Given the description of an element on the screen output the (x, y) to click on. 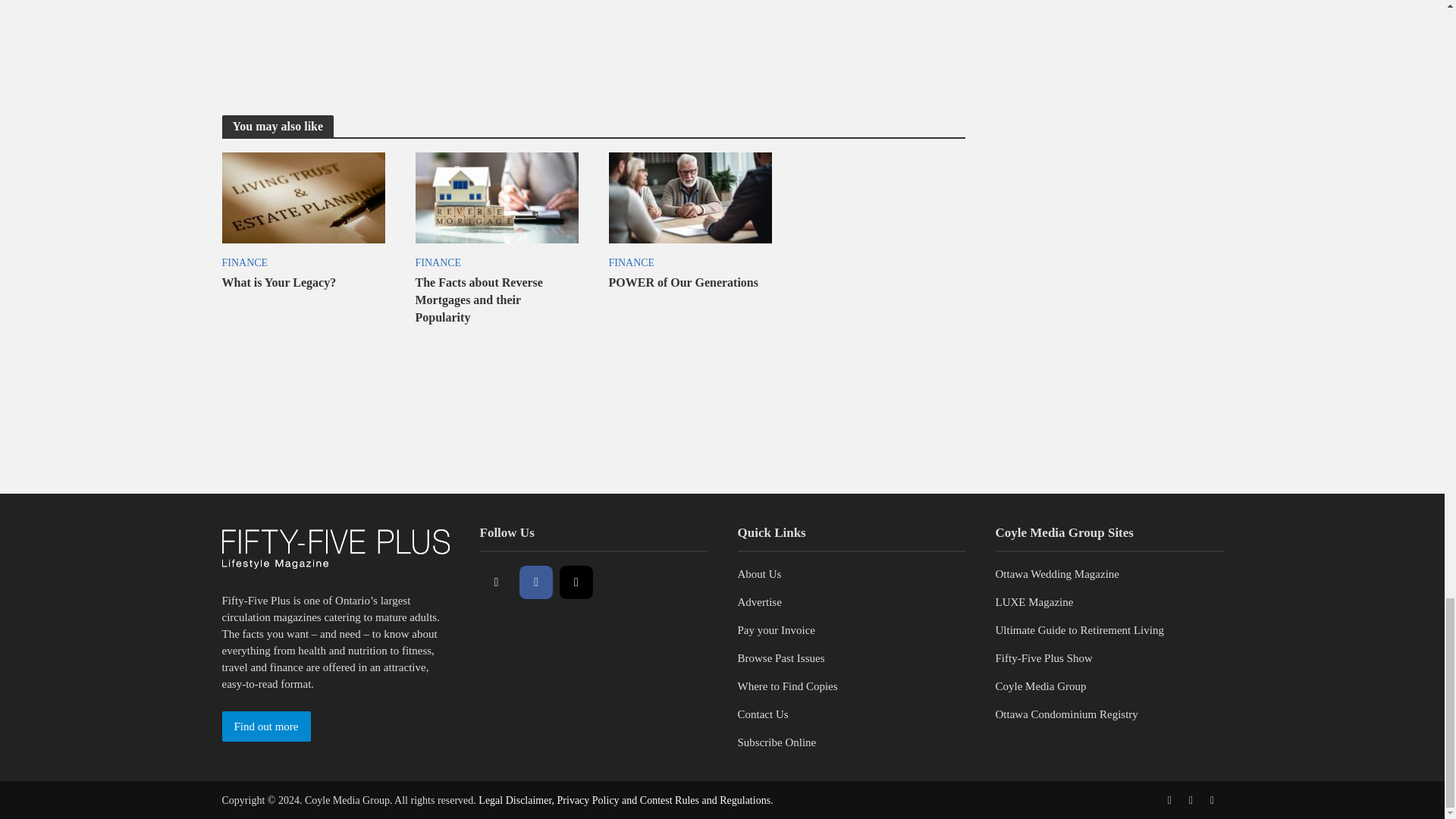
Instagram (575, 581)
POWER of Our Generations (689, 196)
Facebook (536, 581)
3rd party ad content (726, 432)
The Facts about Reverse Mortgages and their Popularity (496, 196)
What is Your Legacy? (302, 196)
